Given the description of an element on the screen output the (x, y) to click on. 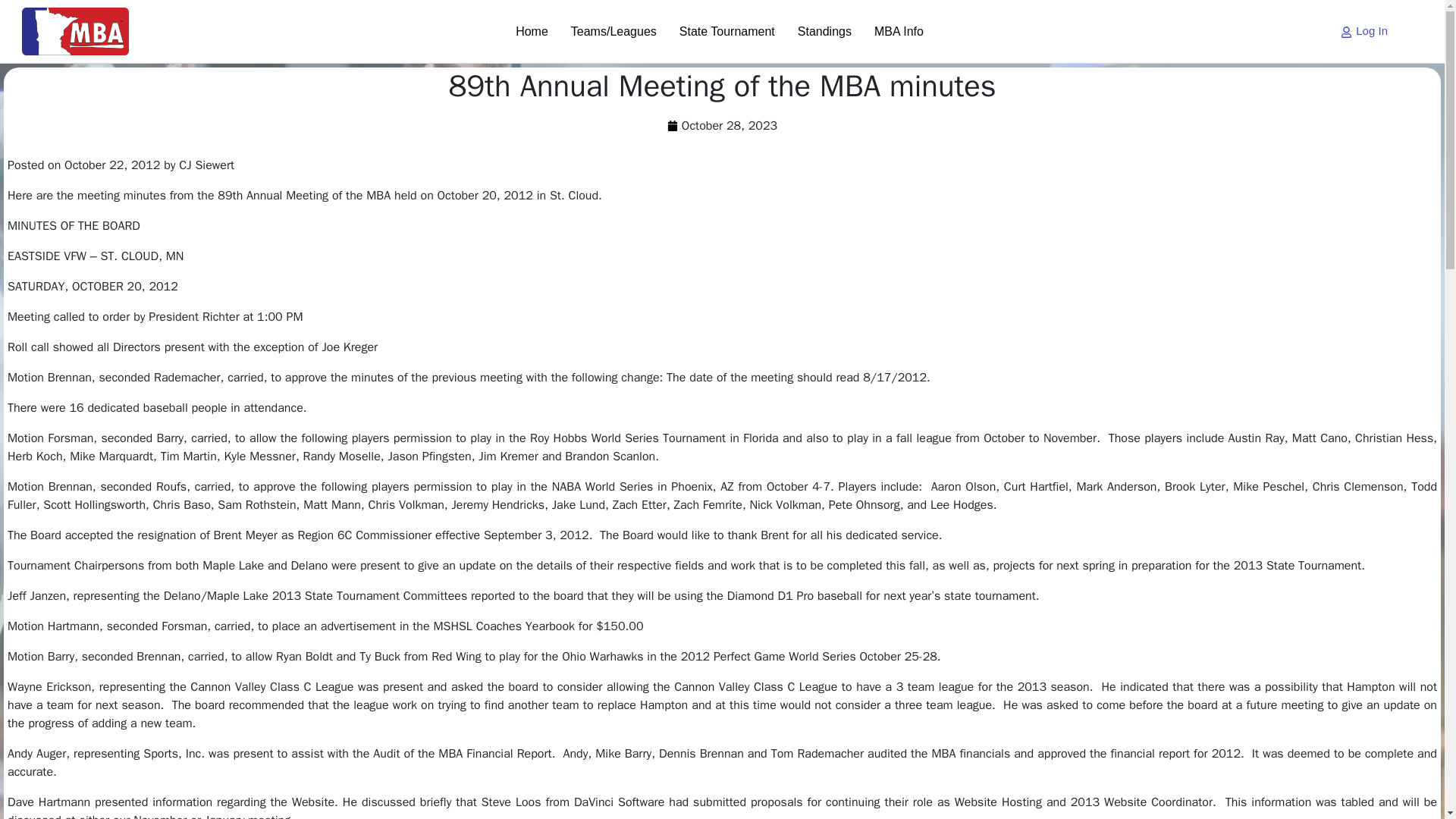
Standings (824, 31)
MBA Info (898, 31)
Log In (1363, 31)
Home (531, 31)
State Tournament (727, 31)
